Given the description of an element on the screen output the (x, y) to click on. 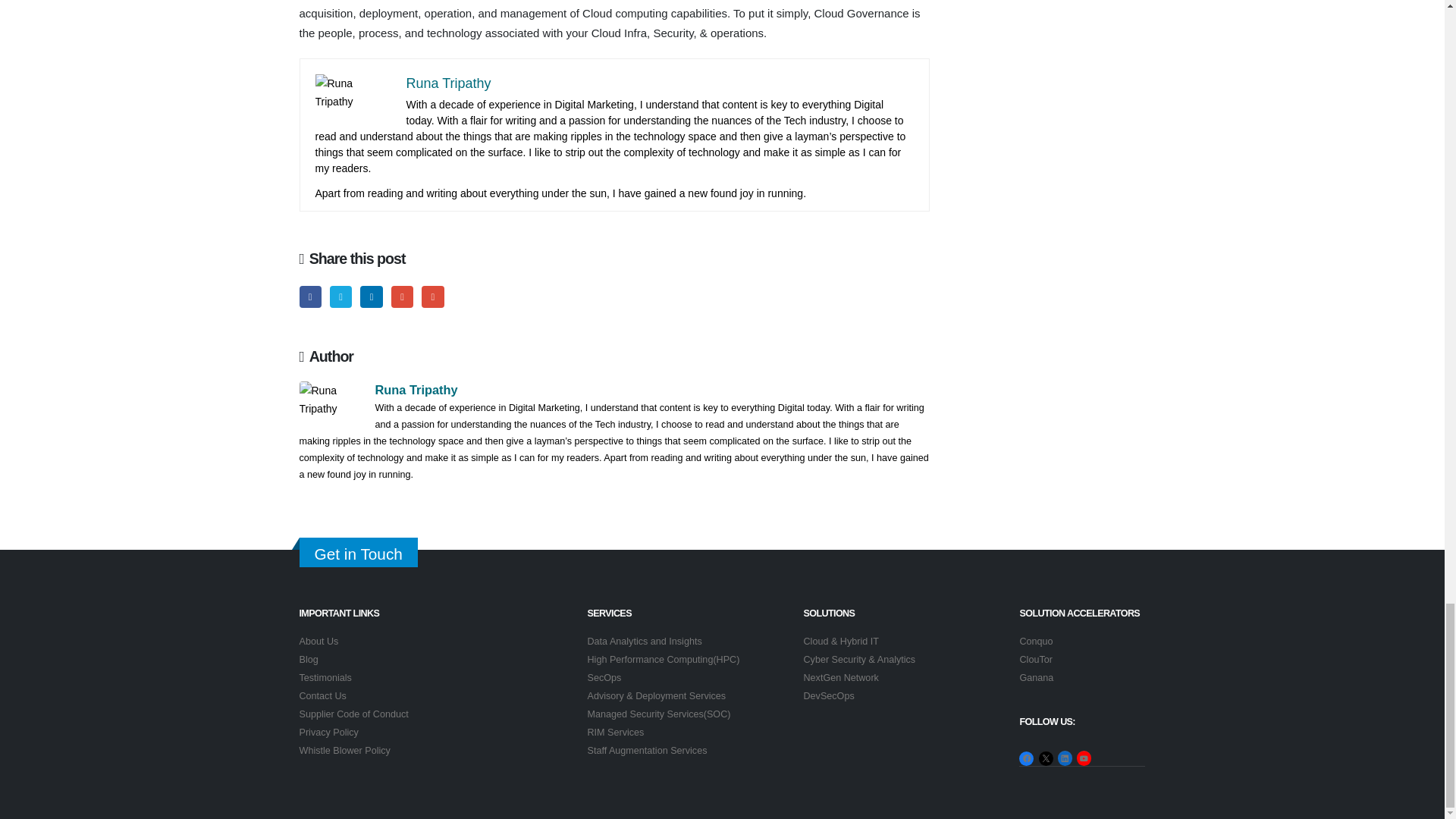
Posts by Runa Tripathy (415, 389)
Facebook (309, 296)
LinkedIn (370, 296)
Email (433, 296)
Twitter (341, 296)
